Given the description of an element on the screen output the (x, y) to click on. 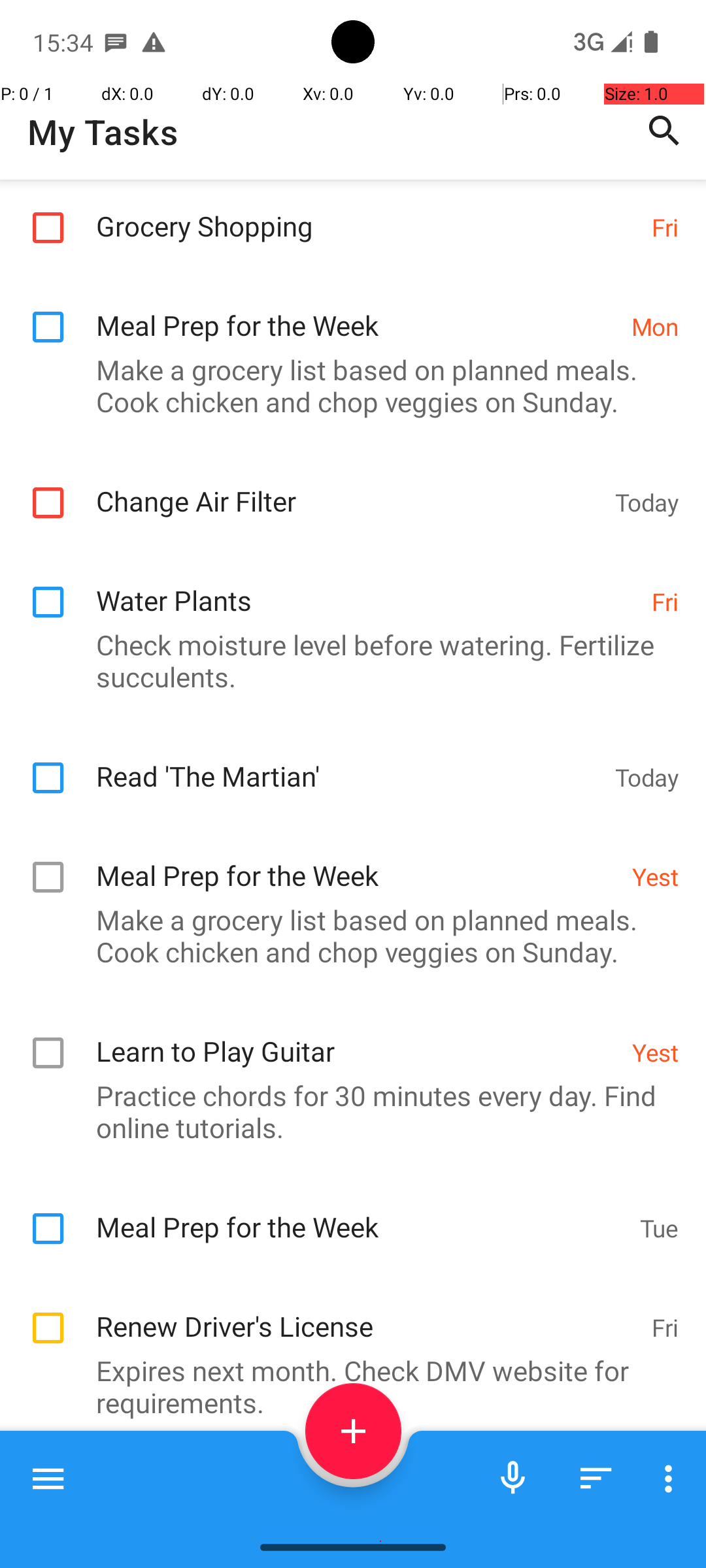
My Tasks Element type: android.widget.TextView (102, 131)
Sort Element type: android.widget.Button (595, 1478)
Create new task Element type: android.widget.ImageButton (353, 1431)
Grocery Shopping Element type: android.widget.TextView (367, 211)
Fri Element type: android.widget.TextView (665, 226)
Meal Prep for the Week Element type: android.widget.TextView (356, 310)
Make a grocery list based on planned meals. Cook chicken and chop veggies on Sunday. Element type: android.widget.TextView (346, 385)
Mon Element type: android.widget.TextView (654, 325)
Change Air Filter Element type: android.widget.TextView (348, 486)
Water Plants Element type: android.widget.TextView (367, 586)
Check moisture level before watering. Fertilize succulents. Element type: android.widget.TextView (346, 660)
Read 'The Martian' Element type: android.widget.TextView (348, 761)
Yest Element type: android.widget.TextView (655, 876)
Learn to Play Guitar Element type: android.widget.TextView (357, 1036)
Practice chords for 30 minutes every day. Find online tutorials. Element type: android.widget.TextView (346, 1110)
Tue Element type: android.widget.TextView (659, 1227)
Renew Driver's License Element type: android.widget.TextView (367, 1311)
Expires next month. Check DMV website for requirements. Element type: android.widget.TextView (346, 1386)
Back Up Computer Files Element type: android.widget.TextView (363, 1487)
Sat Element type: android.widget.TextView (661, 1492)
